Given the description of an element on the screen output the (x, y) to click on. 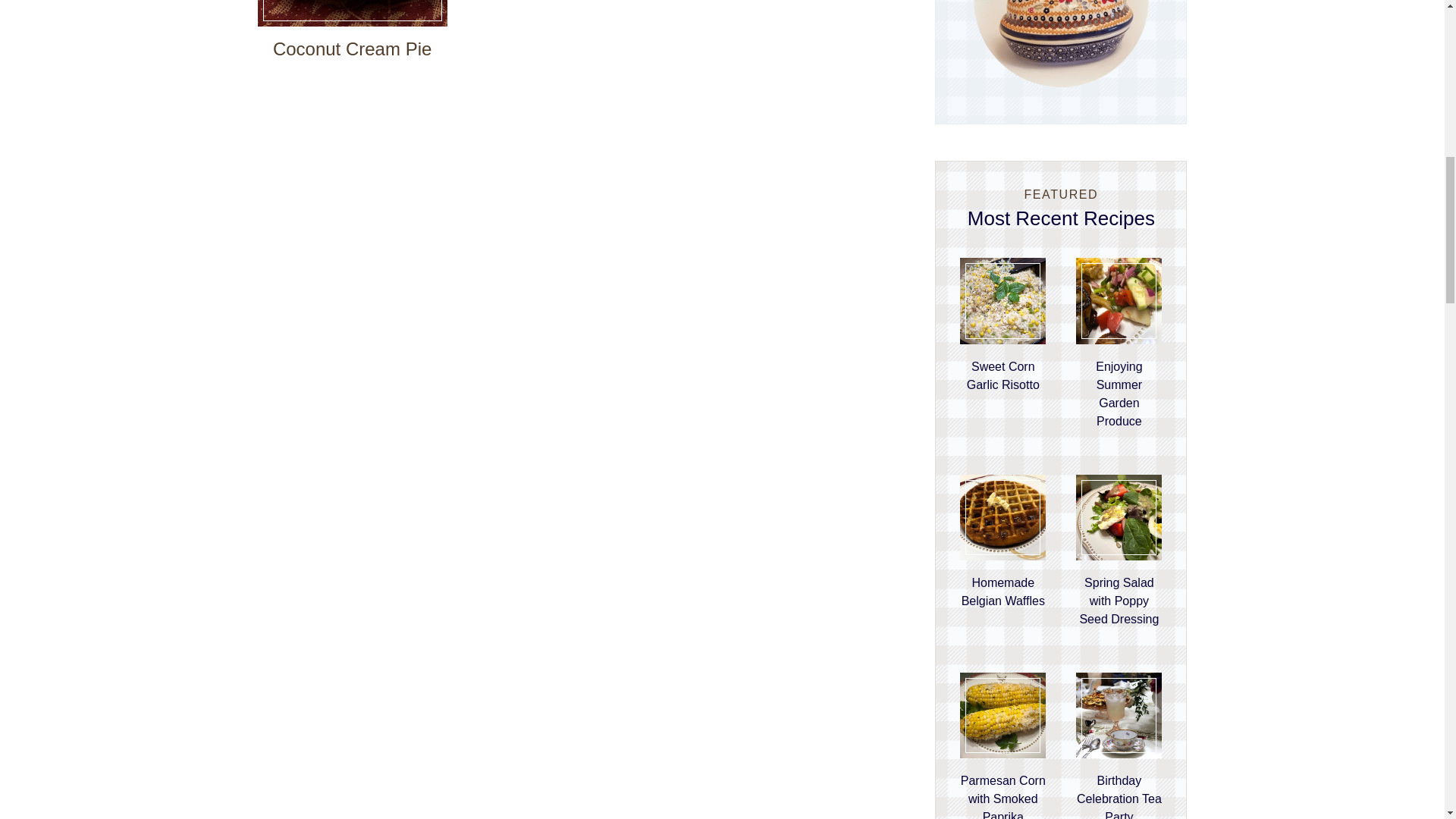
Homemade Belgian Waffles (1002, 591)
Sweet Corn Garlic Risotto (1002, 375)
Spring Salad with Poppy Seed Dressing (1118, 600)
Coconut Cream Pie (351, 48)
